Given the description of an element on the screen output the (x, y) to click on. 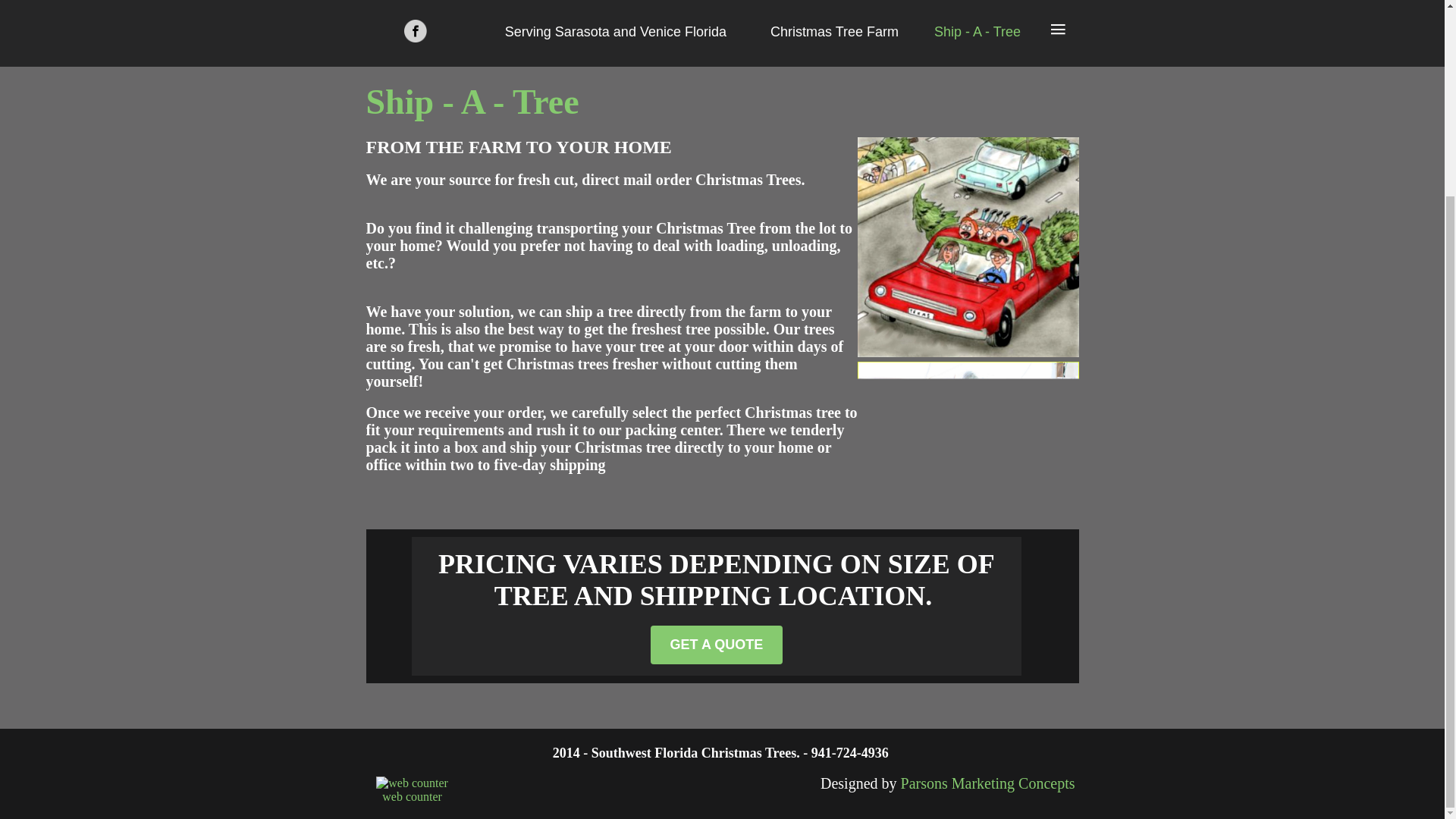
Parsons Marketing Concepts  (989, 782)
Serving Sarasota and Venice Florida (615, 31)
Ship - A - Tree (976, 31)
web counter (411, 796)
GET A QUOTE (716, 644)
Christmas Tree Farm (834, 31)
Ship - A - Tree (976, 31)
Facebook (414, 30)
Christmas Tree Farm (834, 31)
Serving Sarasota and Venice Florida (615, 31)
